Given the description of an element on the screen output the (x, y) to click on. 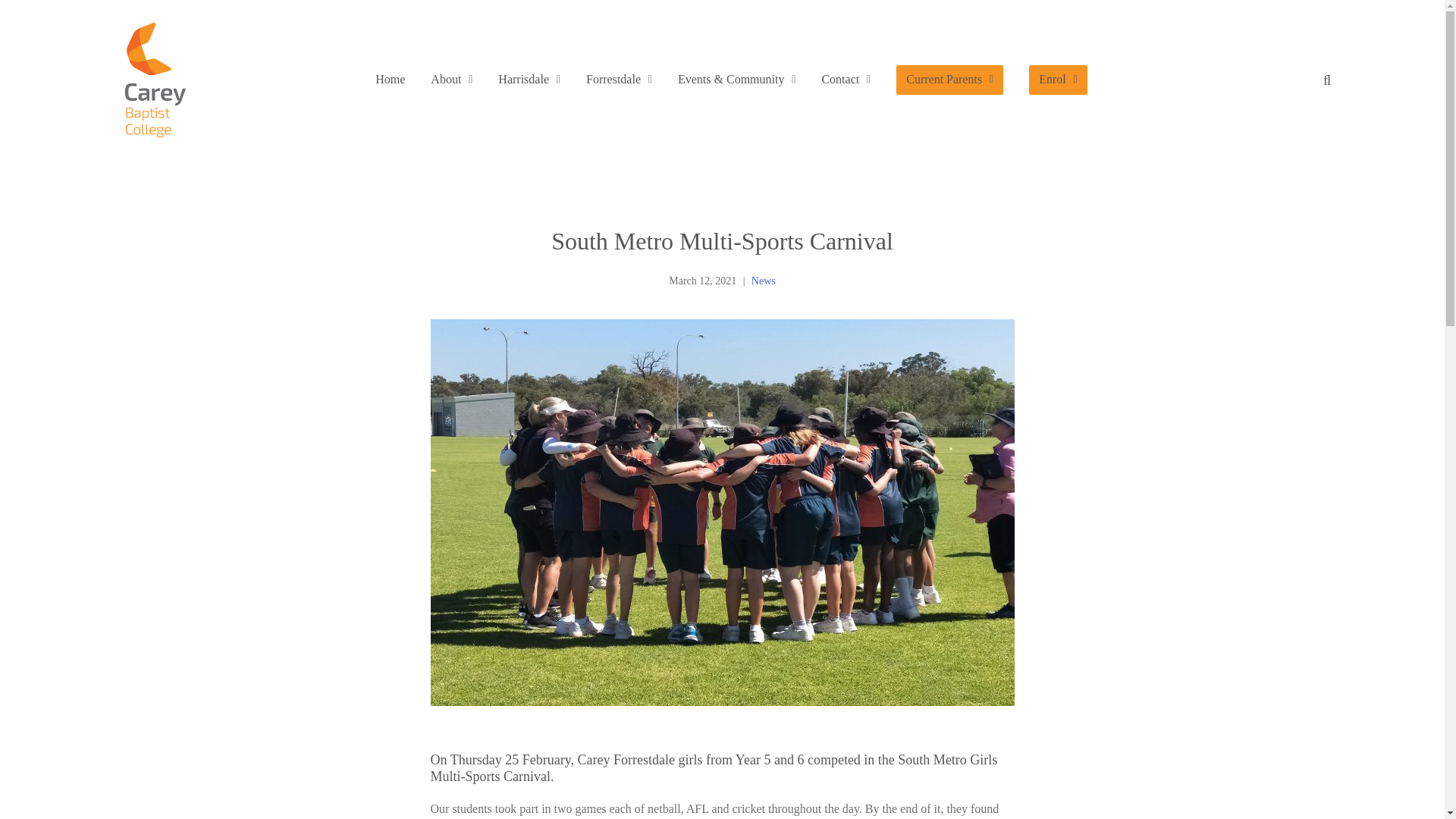
Current Parents (949, 79)
Harrisdale (529, 80)
Forrestdale (619, 80)
